Given the description of an element on the screen output the (x, y) to click on. 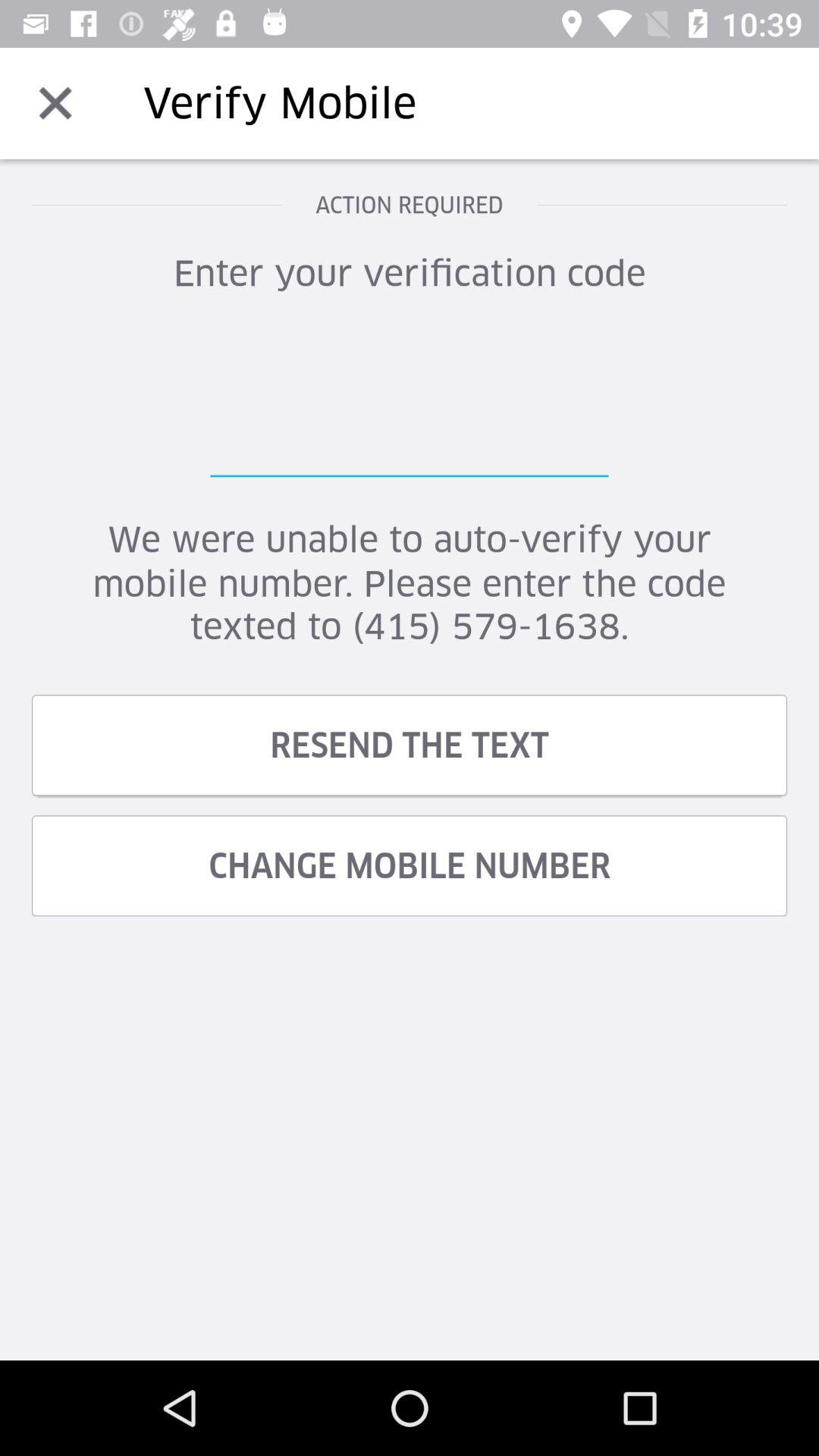
text field for verification enter to verification code verification for login access (409, 401)
